Given the description of an element on the screen output the (x, y) to click on. 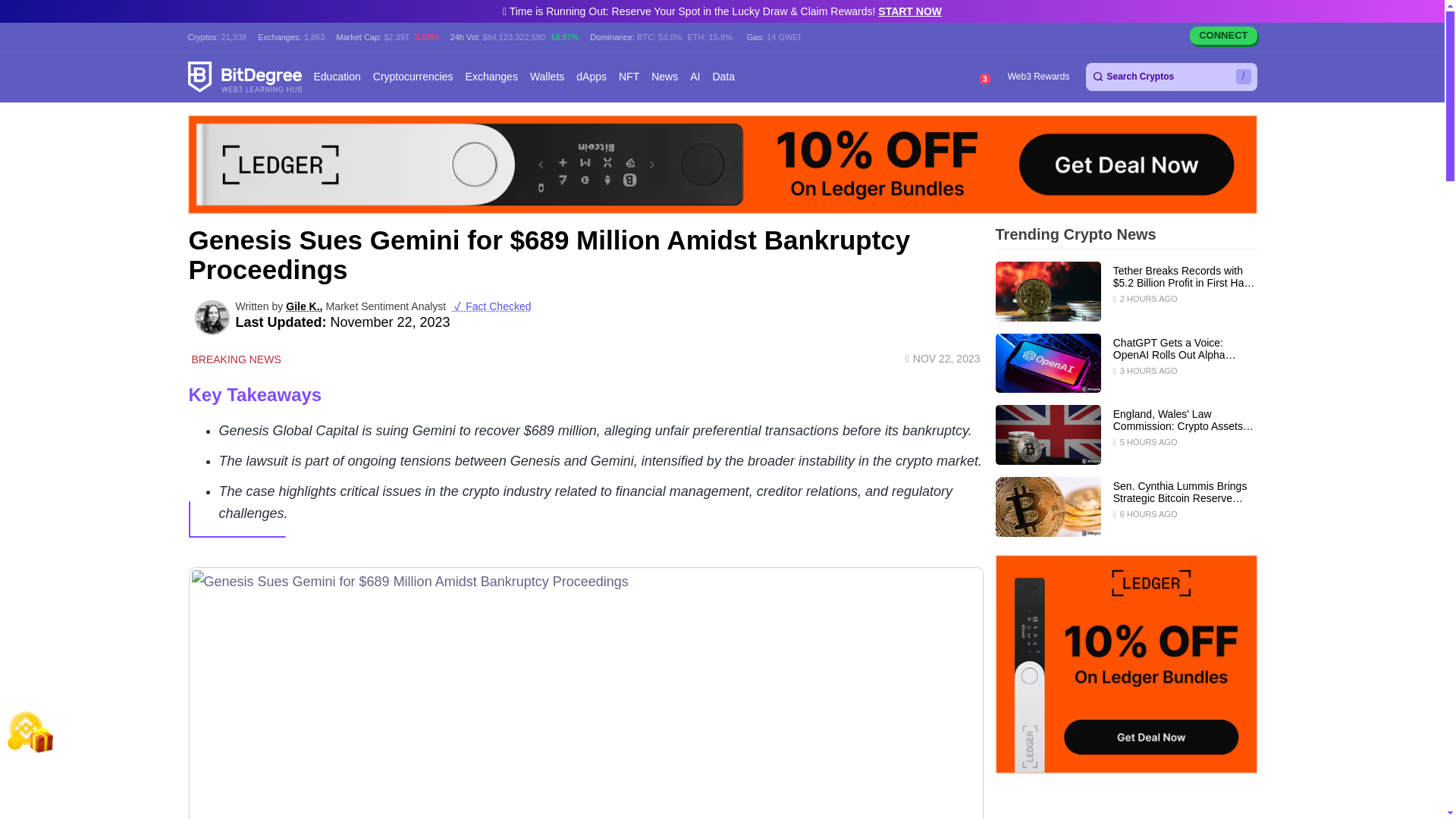
1,863 (314, 35)
Ledger (722, 164)
START NOW (909, 10)
BREAKING NEWS (234, 358)
dApps (591, 76)
Cryptocurrencies (412, 76)
Wallets (546, 76)
21,338 (234, 35)
Gile K., (303, 306)
NFT (628, 76)
Exchanges (491, 76)
Web3 Rewards (1037, 77)
Gile K. Market Sentiment Analyst (210, 317)
News (664, 76)
14 GWEI (783, 35)
